Given the description of an element on the screen output the (x, y) to click on. 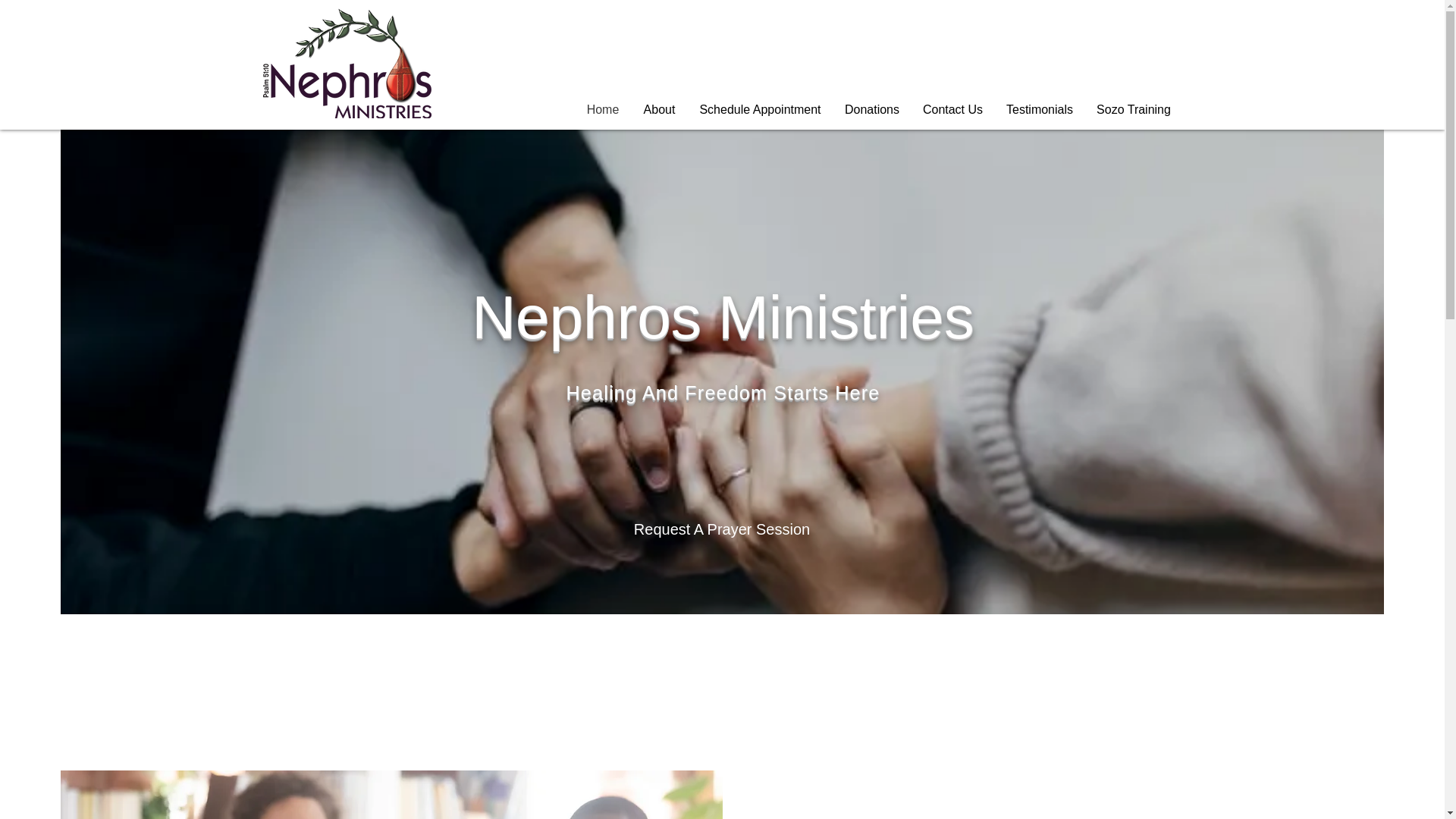
Donations (871, 109)
Request A Prayer Session (720, 529)
About (658, 109)
Home (603, 109)
Testimonials (1039, 109)
Sozo Training (1133, 109)
Contact Us (952, 109)
Schedule Appointment (759, 109)
